Given the description of an element on the screen output the (x, y) to click on. 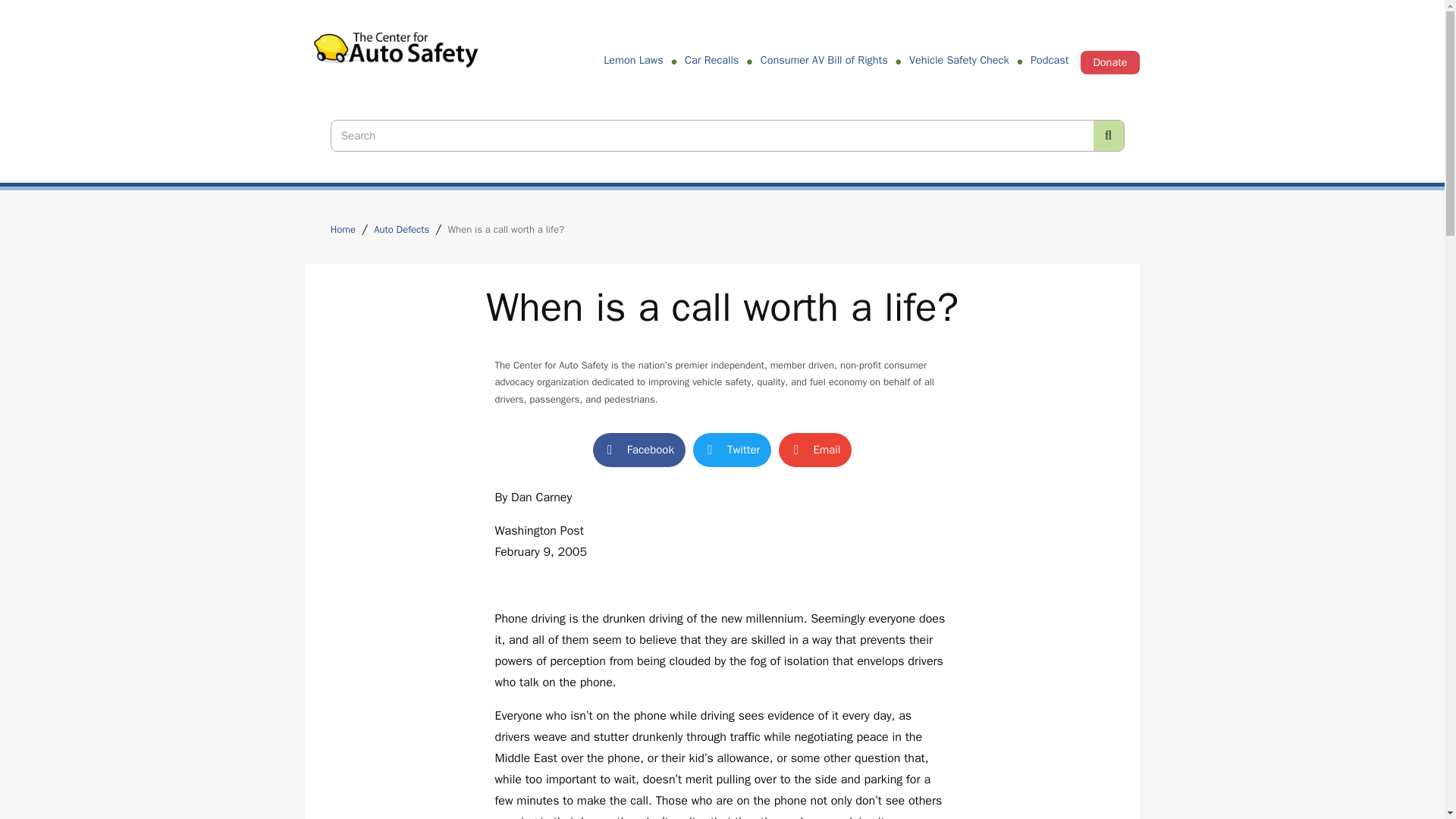
Email (814, 449)
Search (711, 135)
The Center for Auto Safety (395, 56)
Home (342, 229)
Auto Defects (400, 229)
Facebook (638, 449)
Donate (1109, 61)
Twitter (732, 449)
